Given the description of an element on the screen output the (x, y) to click on. 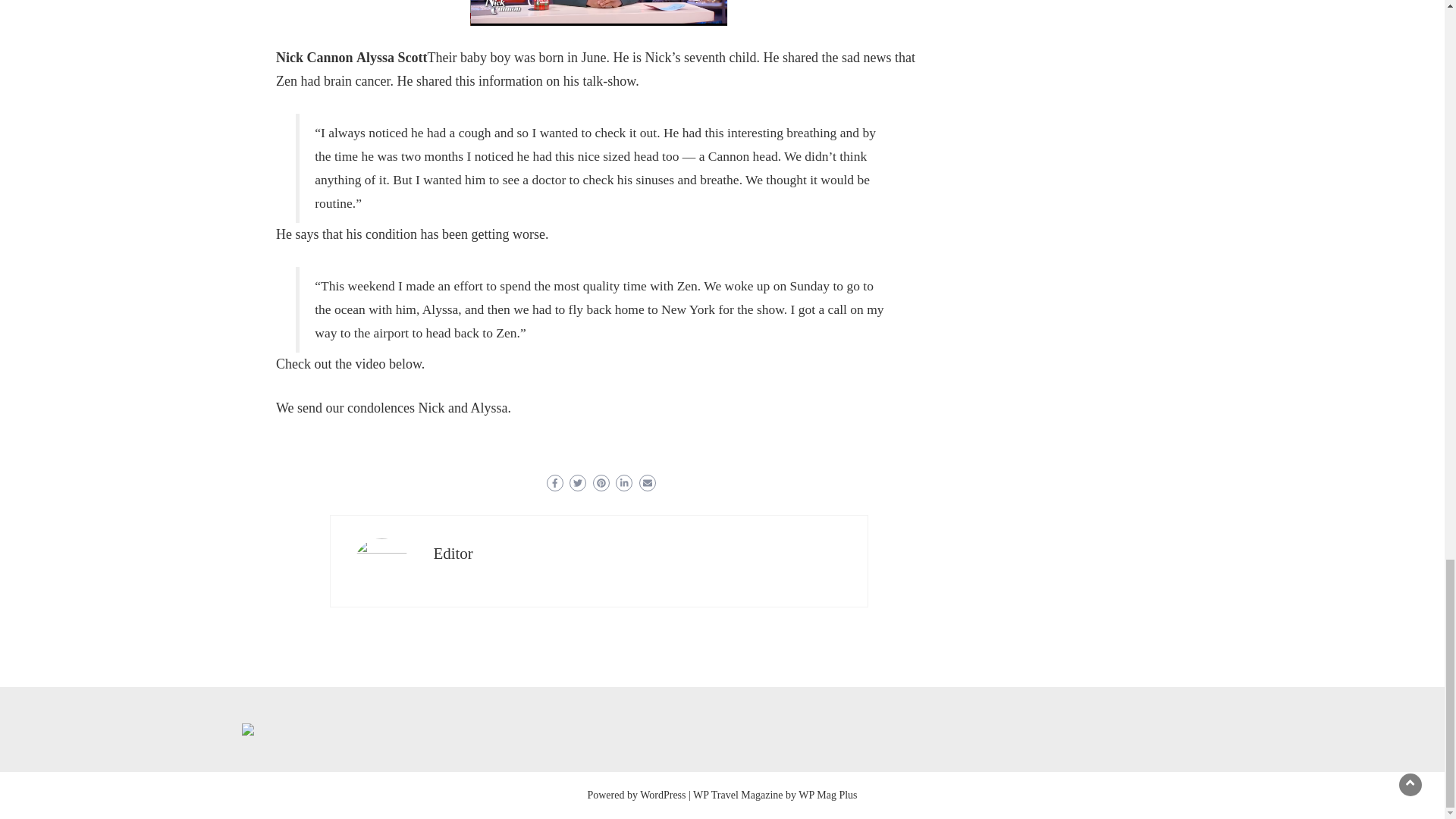
WordPress (662, 794)
Editor (452, 553)
WP Travel Magazine by WP Mag Plus (775, 794)
